Given the description of an element on the screen output the (x, y) to click on. 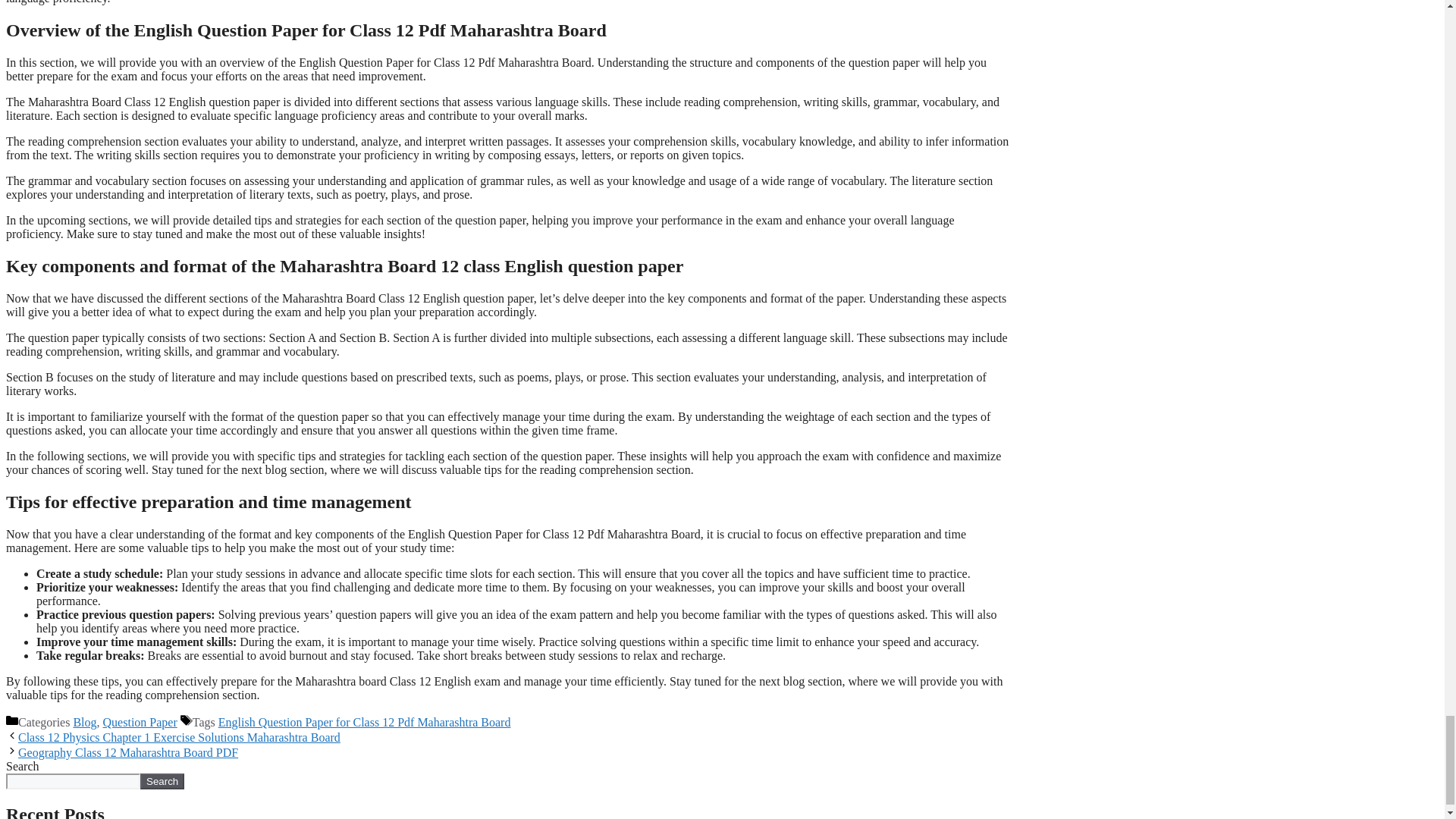
Geography Class 12 Maharashtra Board PDF (127, 752)
Search (161, 781)
Blog (84, 721)
Question Paper (140, 721)
English Question Paper for Class 12 Pdf Maharashtra Board (364, 721)
